Given the description of an element on the screen output the (x, y) to click on. 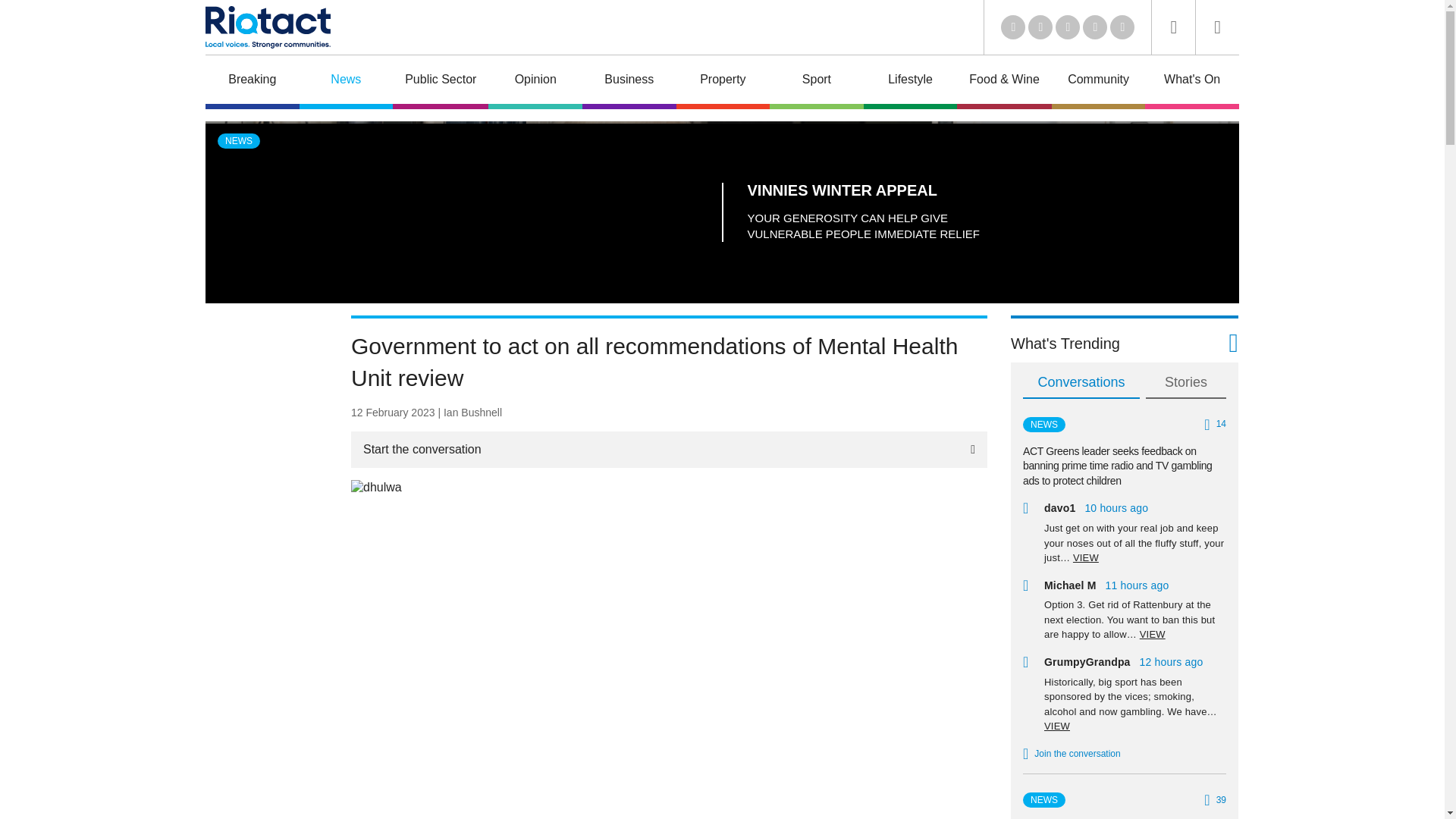
Facebook (1094, 27)
Riotact Home (267, 26)
Twitter (1039, 27)
Instagram (1121, 27)
Breaking (252, 81)
LinkedIn (1013, 27)
Youtube (1067, 27)
News (346, 81)
